Given the description of an element on the screen output the (x, y) to click on. 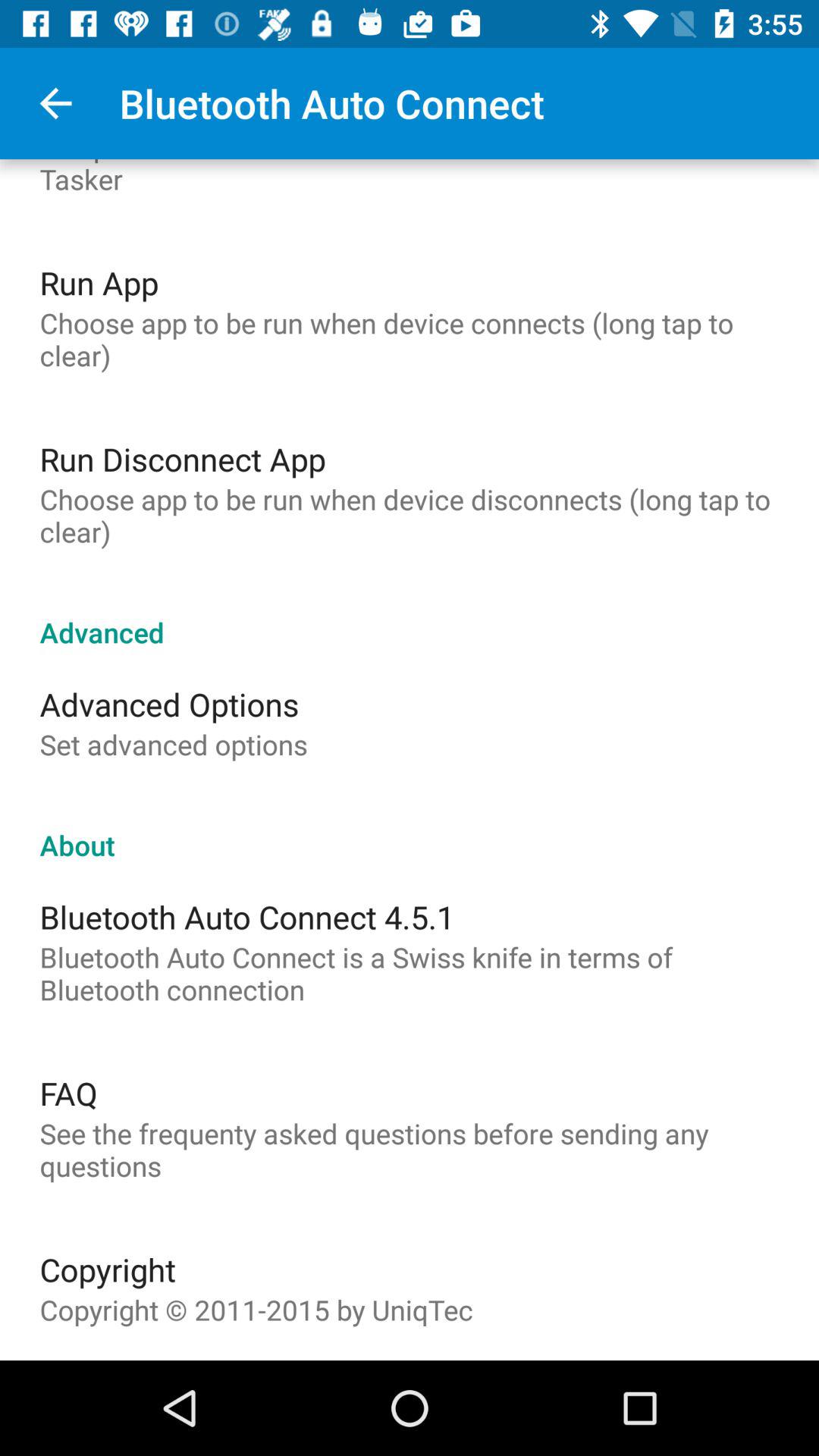
select copyright 2011 2015 item (256, 1309)
